Given the description of an element on the screen output the (x, y) to click on. 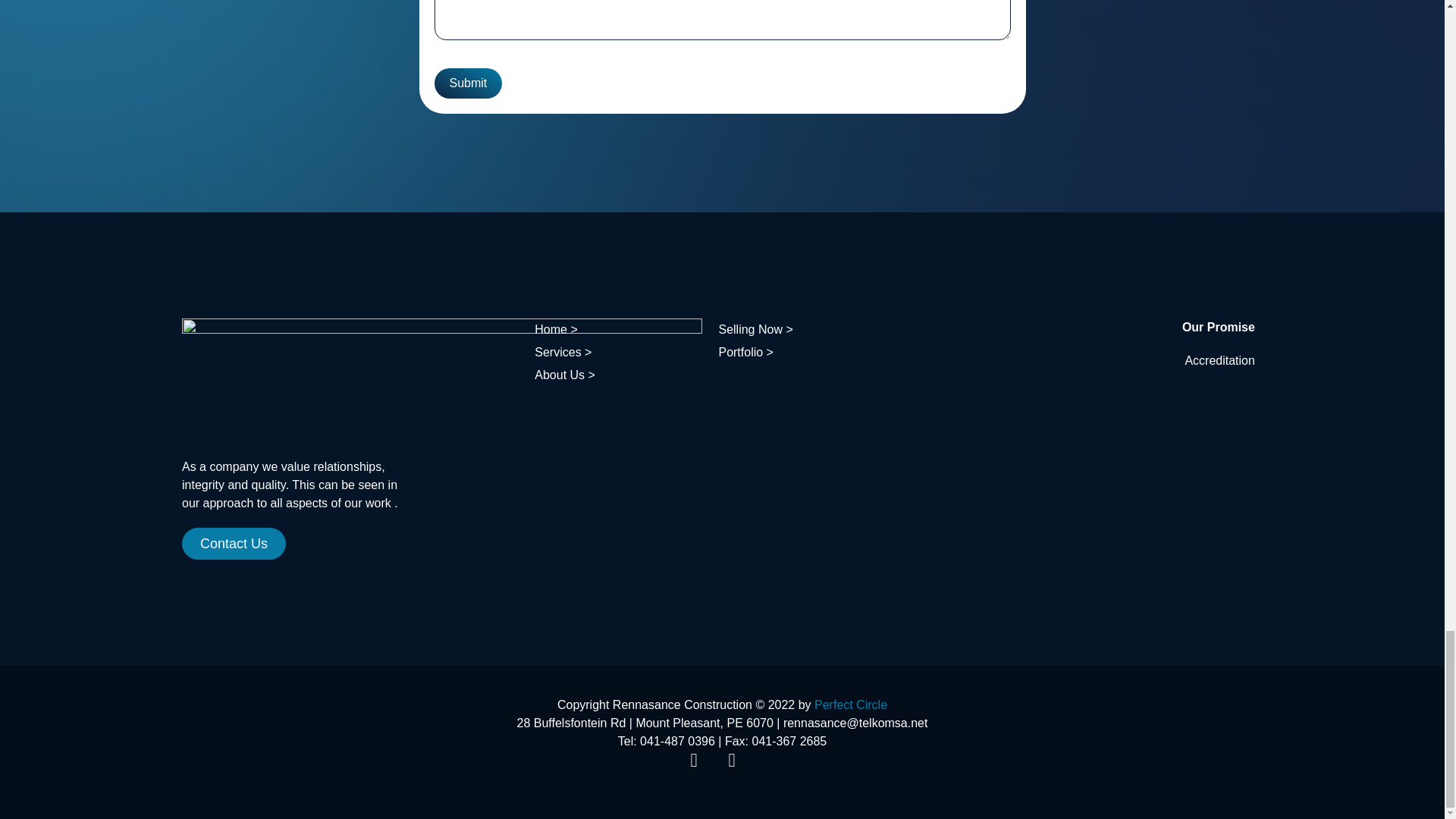
Perfect Circle (849, 704)
Submit (467, 82)
Contact Us (233, 543)
